Given the description of an element on the screen output the (x, y) to click on. 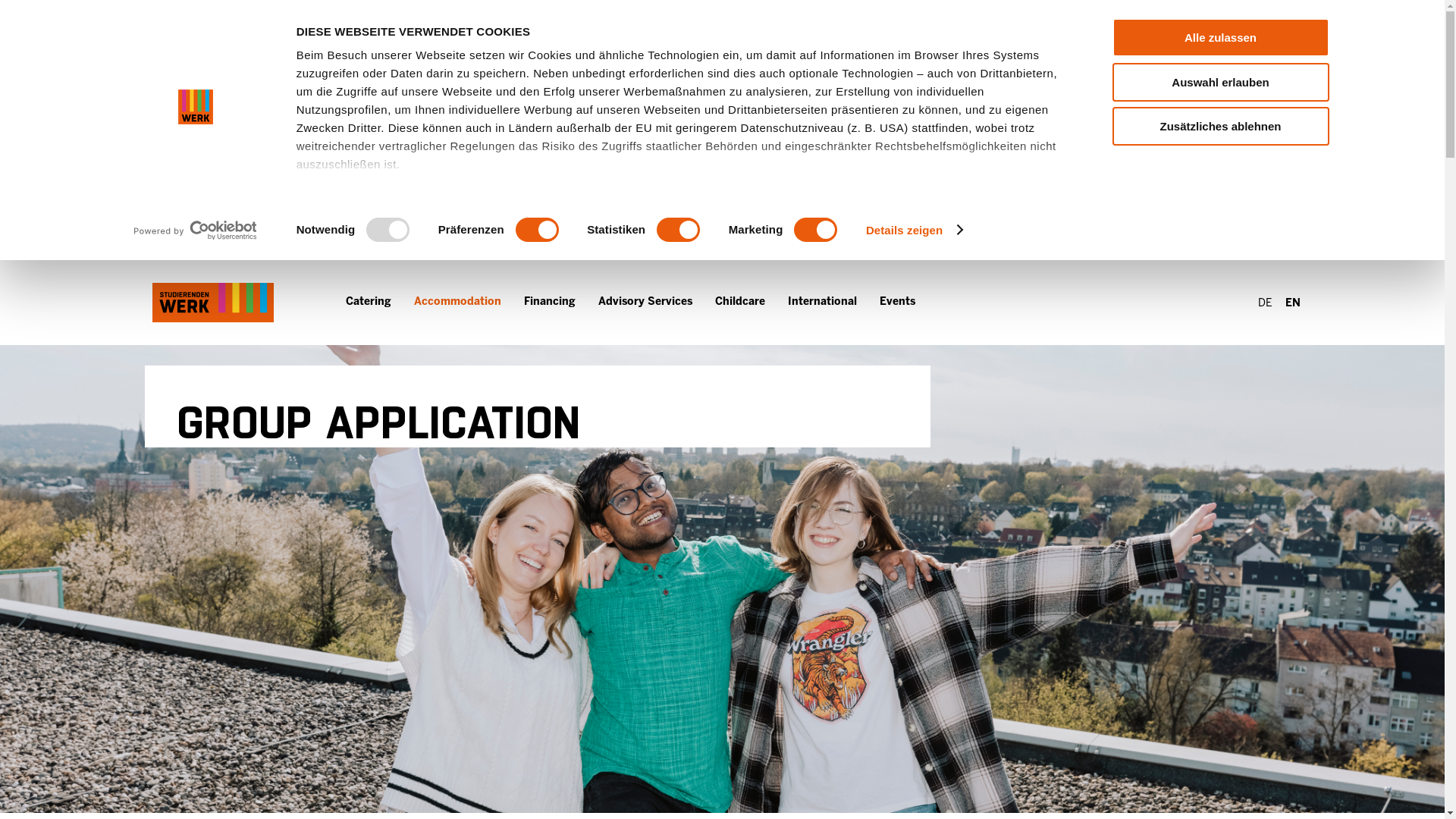
Auswahl erlauben (1219, 81)
Datenschutzinformation (366, 254)
Zur Suche (1185, 302)
Studierendenwerk Essen Duisburg (212, 302)
Startseite (212, 302)
Deutsch (1264, 303)
Englisch (1292, 303)
Details zeigen (914, 229)
Alle zulassen (1219, 37)
